Given the description of an element on the screen output the (x, y) to click on. 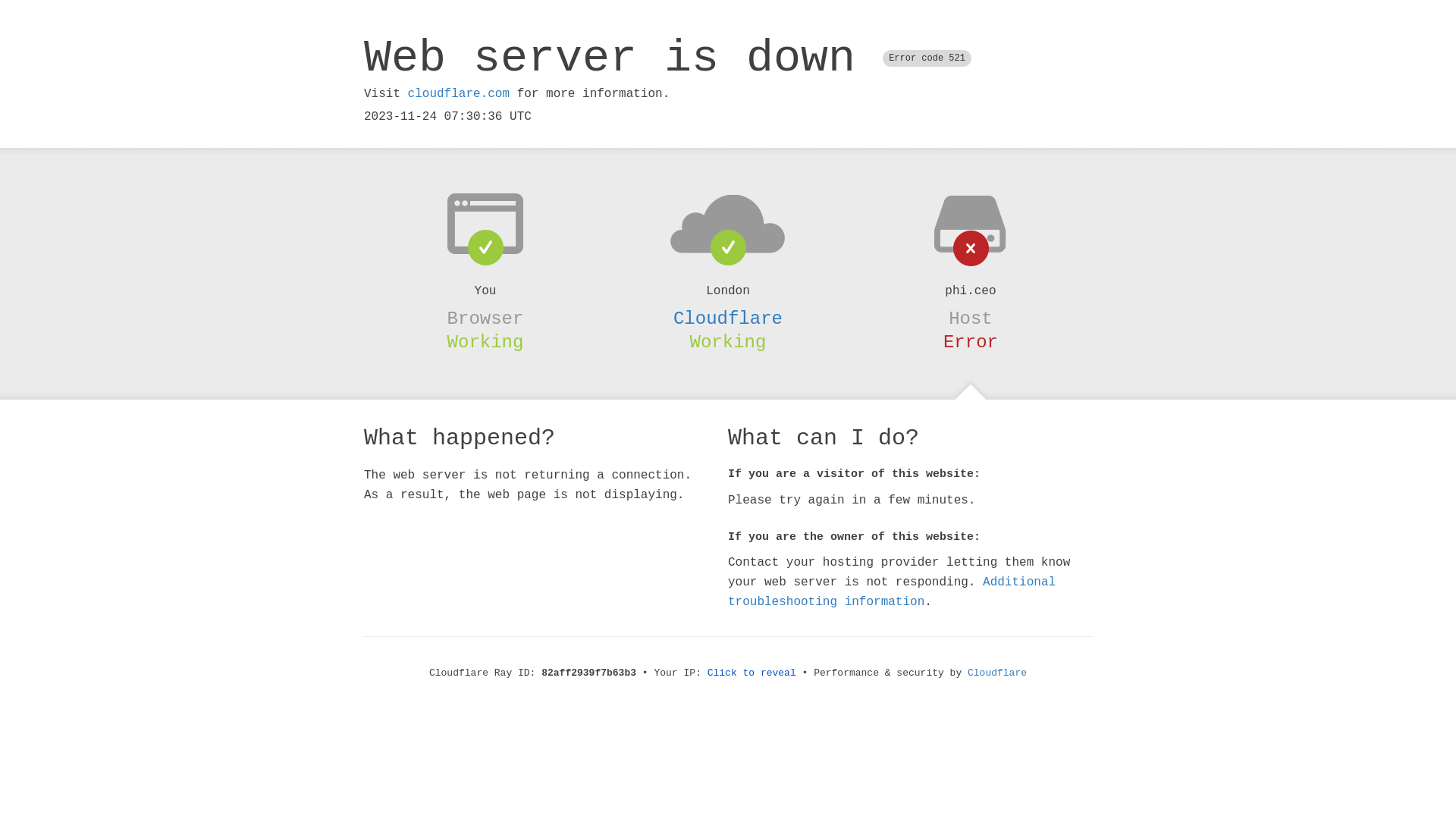
Click to reveal Element type: text (751, 672)
Additional troubleshooting information Element type: text (891, 591)
Cloudflare Element type: text (996, 672)
cloudflare.com Element type: text (458, 93)
Cloudflare Element type: text (727, 318)
